Given the description of an element on the screen output the (x, y) to click on. 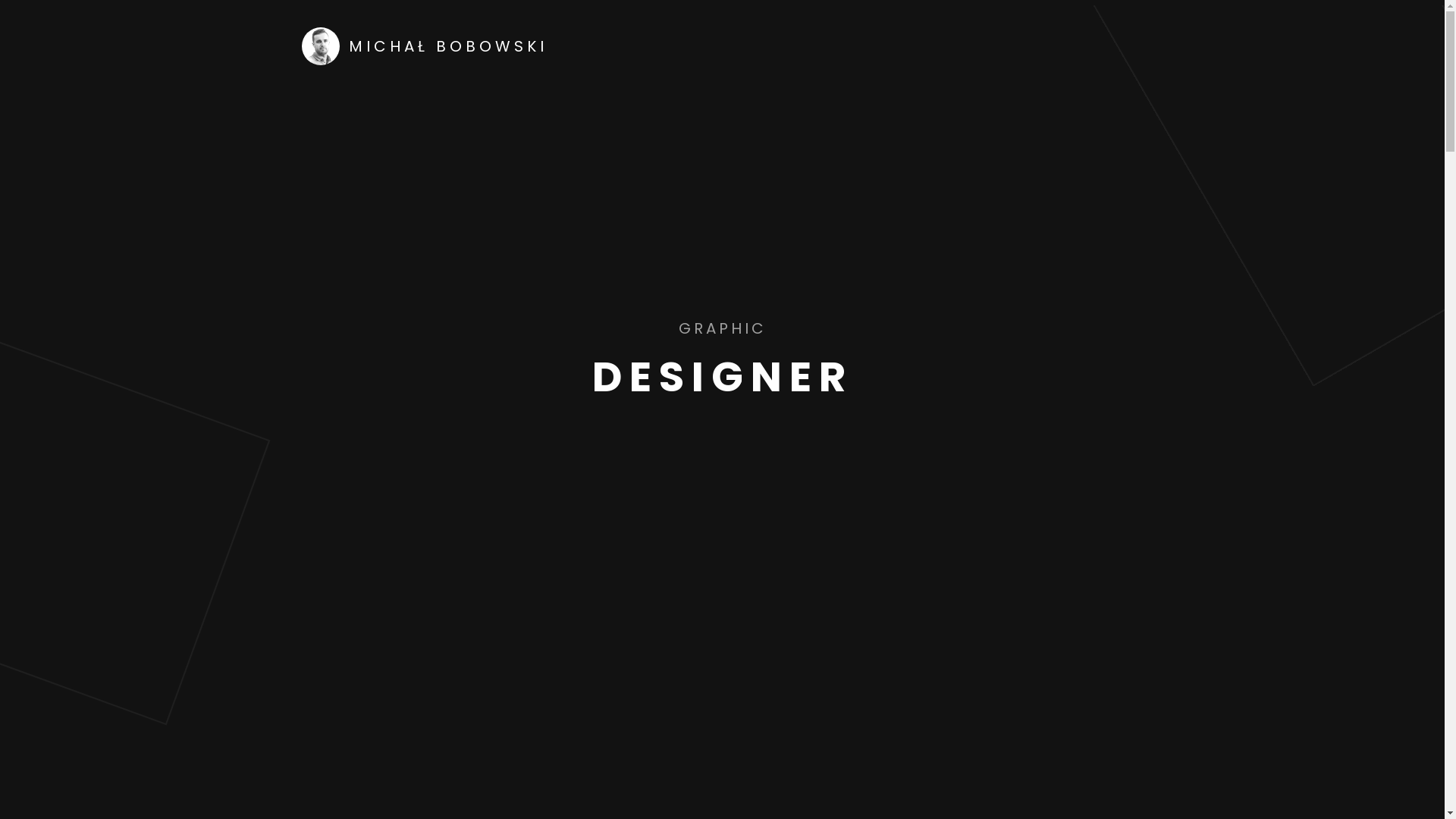
FULL STACK Element type: text (722, 327)
